Given the description of an element on the screen output the (x, y) to click on. 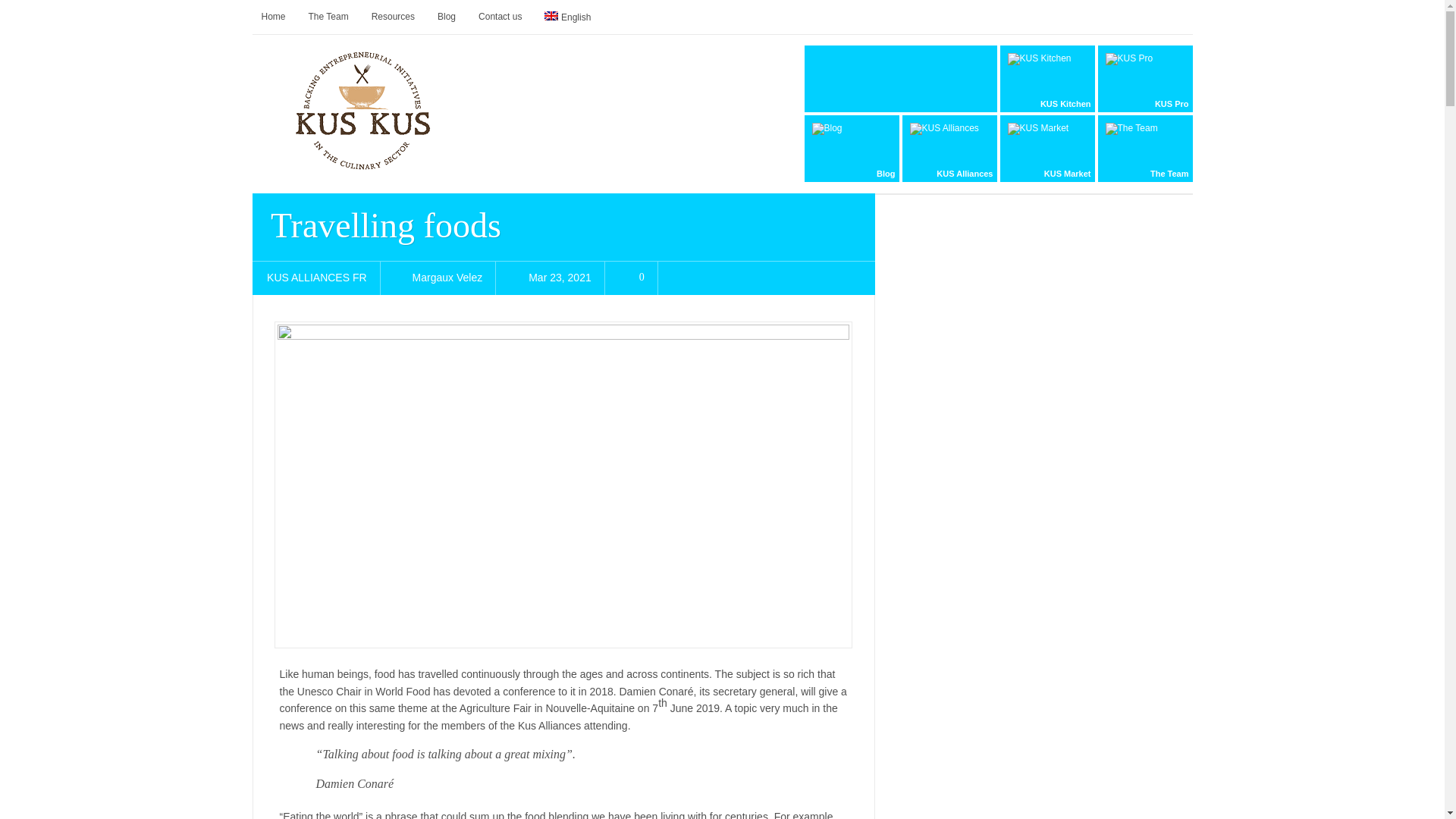
English (567, 16)
The Team (328, 16)
Blog (850, 148)
English (550, 15)
Contact us (500, 16)
KUS Pro (1144, 78)
KUS ALLIANCES FR (316, 277)
Blog (446, 16)
KUS Kitchen (1046, 78)
English (567, 16)
